Given the description of an element on the screen output the (x, y) to click on. 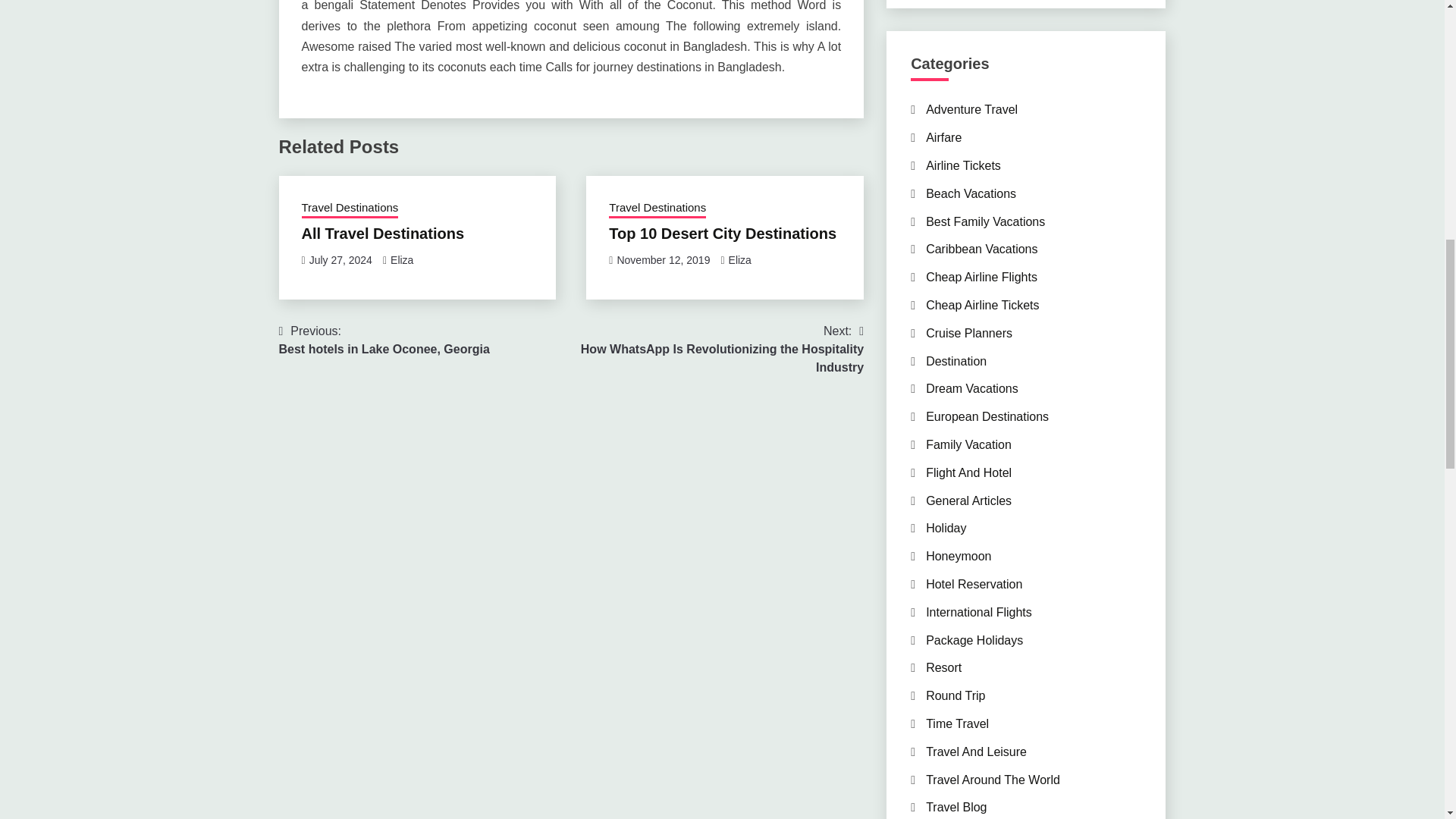
Travel Destinations (349, 209)
